Given the description of an element on the screen output the (x, y) to click on. 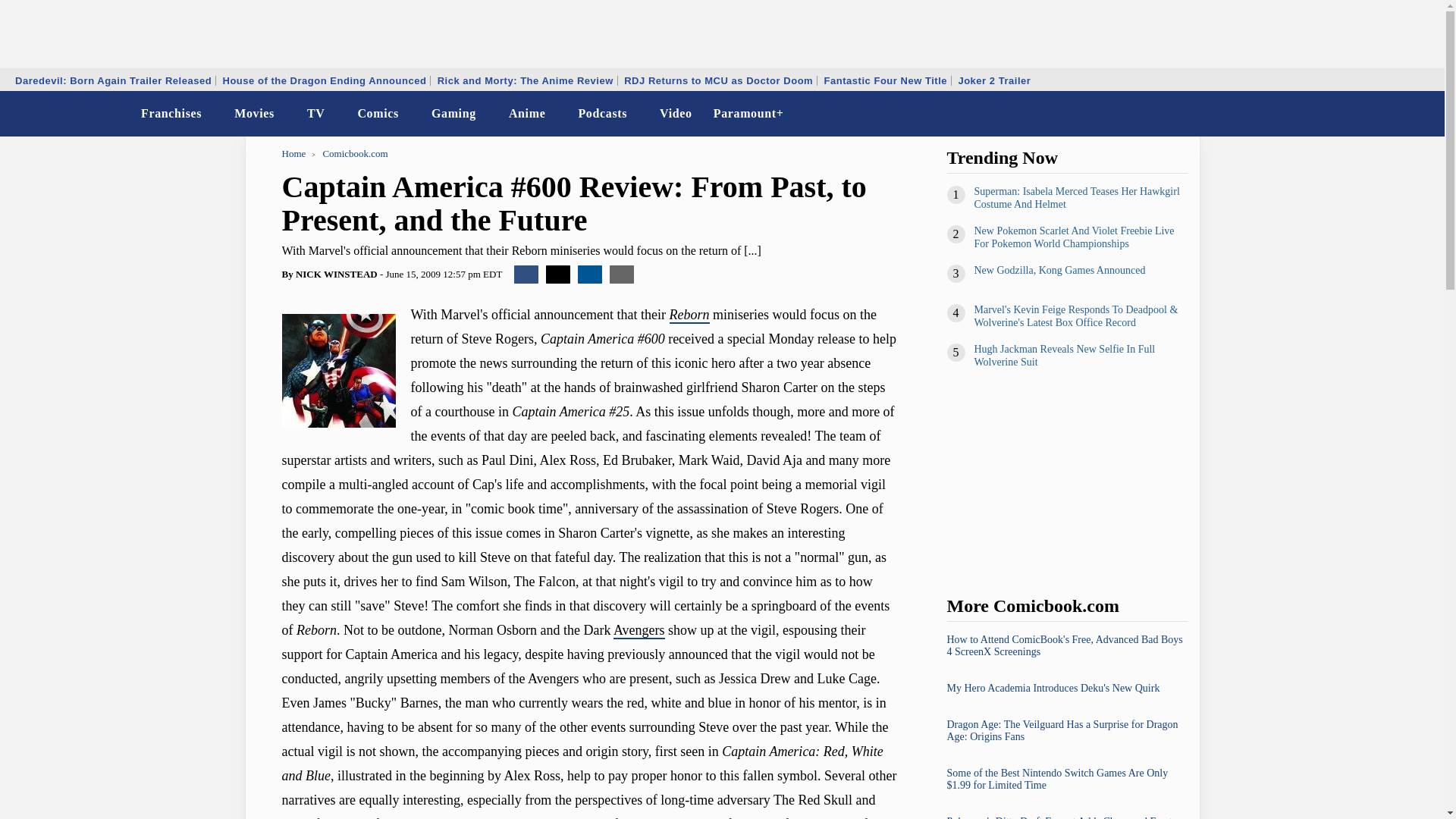
Dark Mode (1394, 113)
Fantastic Four New Title (886, 80)
Search (1422, 114)
Movies (254, 113)
Comics (377, 113)
Daredevil: Born Again Trailer Released (113, 80)
House of the Dragon Ending Announced (323, 80)
Joker 2 Trailer (993, 80)
Rick and Morty: The Anime Review (525, 80)
captain-america-6001 (339, 370)
